Given the description of an element on the screen output the (x, y) to click on. 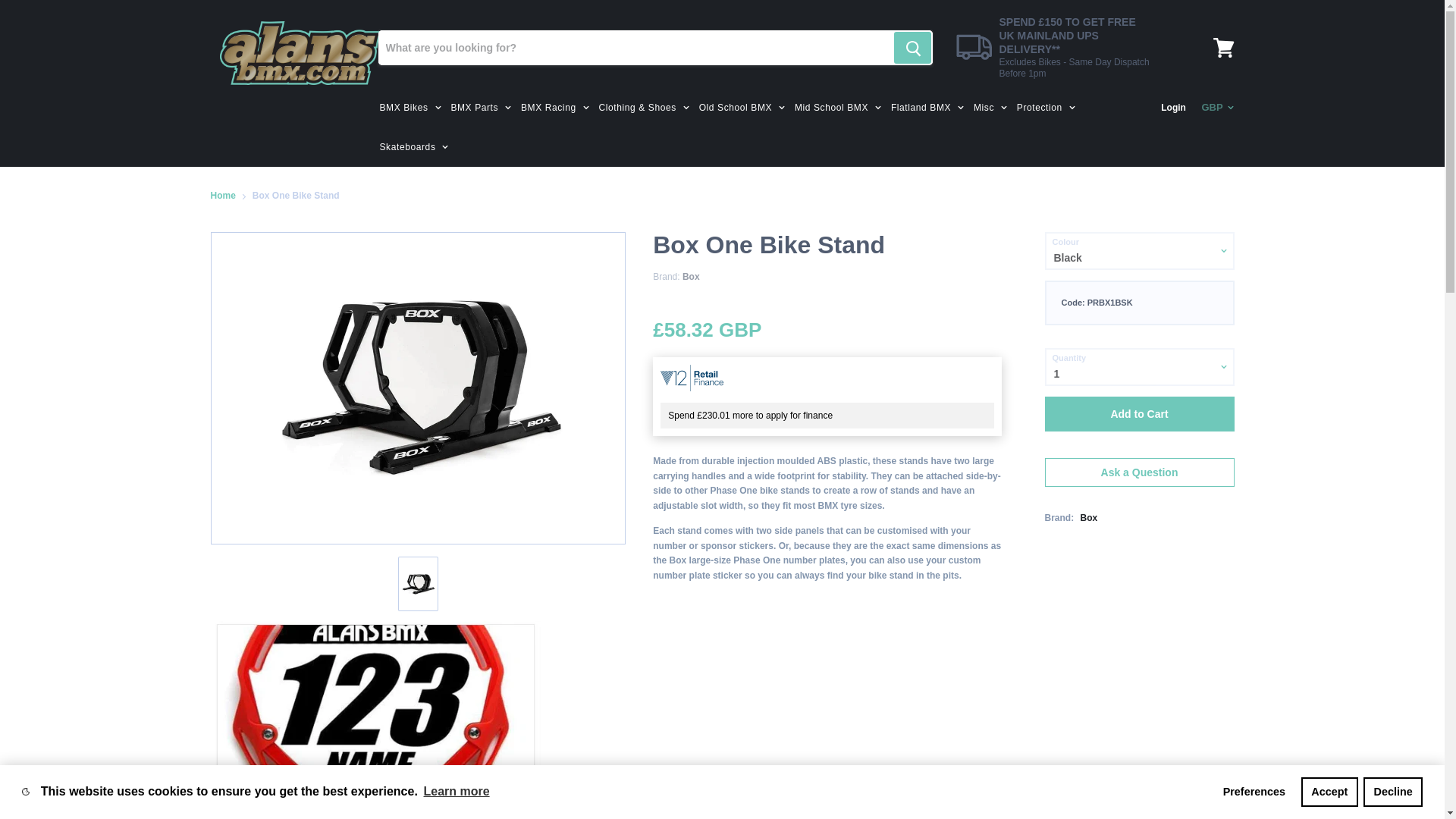
Accept (1329, 791)
BMX Bikes (408, 107)
Decline (1392, 791)
Preferences (1253, 791)
View cart (1223, 47)
Learn more (456, 791)
